Given the description of an element on the screen output the (x, y) to click on. 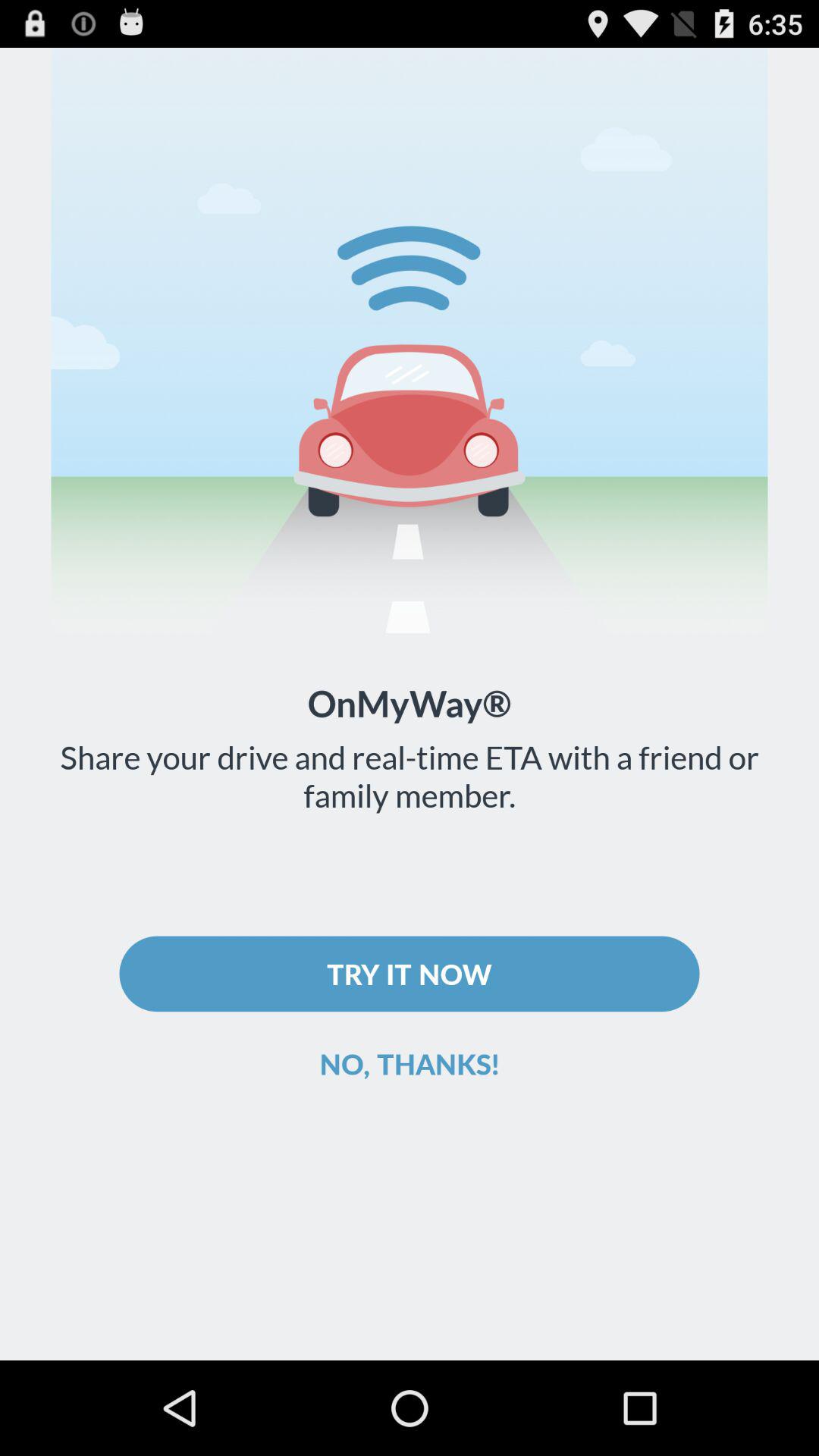
open the item below the try it now icon (409, 1063)
